Given the description of an element on the screen output the (x, y) to click on. 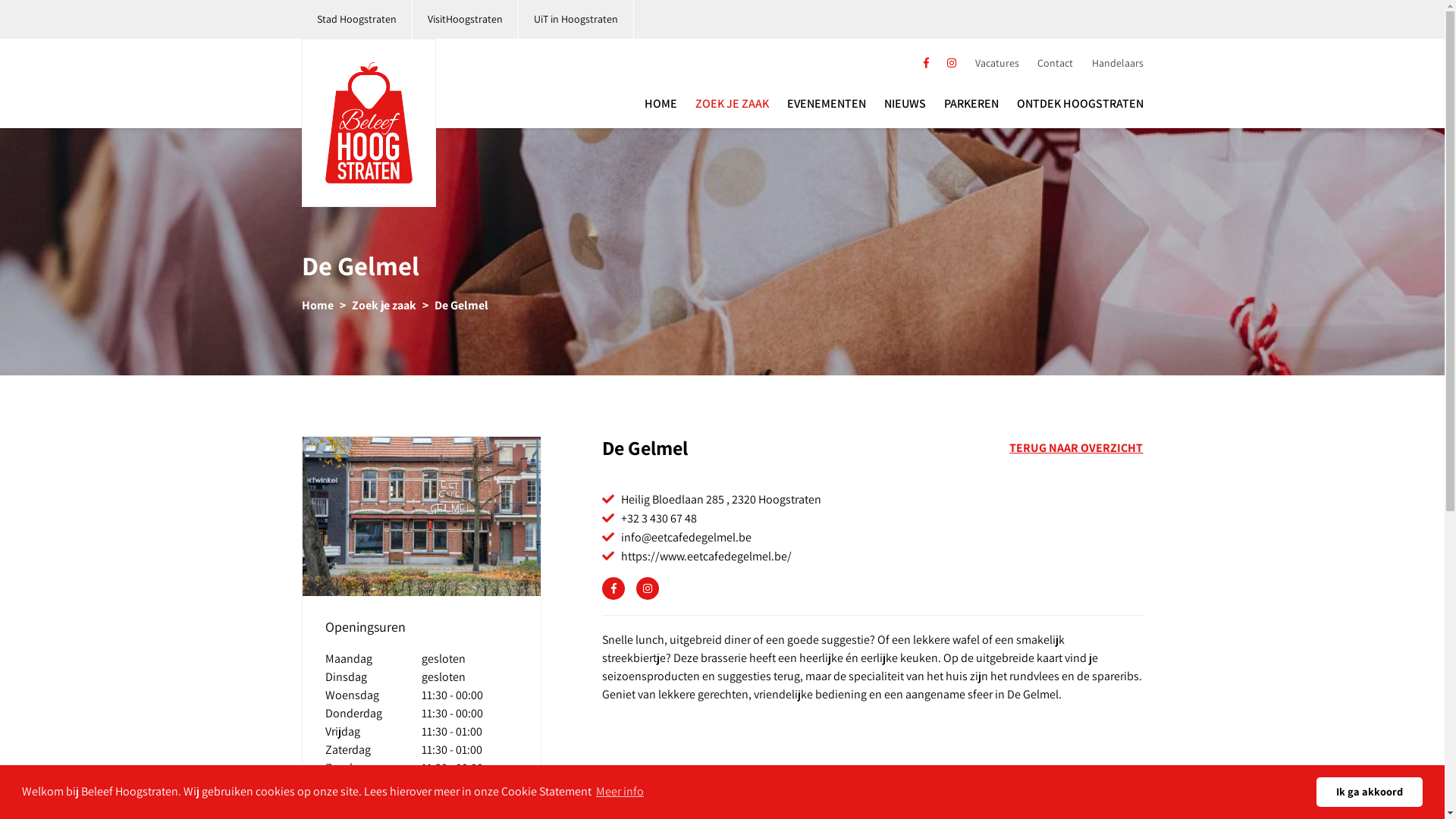
Ik ga akkoord Element type: text (1369, 791)
Stad Hoogstraten Element type: text (356, 19)
info@eetcafedegelmel.be Element type: text (686, 537)
UiT in Hoogstraten Element type: text (575, 19)
EVENEMENTEN Element type: text (826, 103)
ONTDEK HOOGSTRATEN Element type: text (1079, 103)
Vacatures Element type: text (997, 63)
PARKEREN Element type: text (970, 103)
+32 3 430 67 48 Element type: text (658, 518)
TERUG NAAR OVERZICHT Element type: text (1075, 448)
Meer info Element type: text (619, 791)
Handelaars Element type: text (1117, 63)
Zoek je zaak Element type: text (383, 305)
Contact Element type: text (1055, 63)
NIEUWS Element type: text (904, 103)
VisitHoogstraten Element type: text (465, 19)
https://www.eetcafedegelmel.be/ Element type: text (706, 556)
Home Element type: text (317, 305)
HOME Element type: text (660, 103)
ZOEK JE ZAAK Element type: text (731, 103)
